Given the description of an element on the screen output the (x, y) to click on. 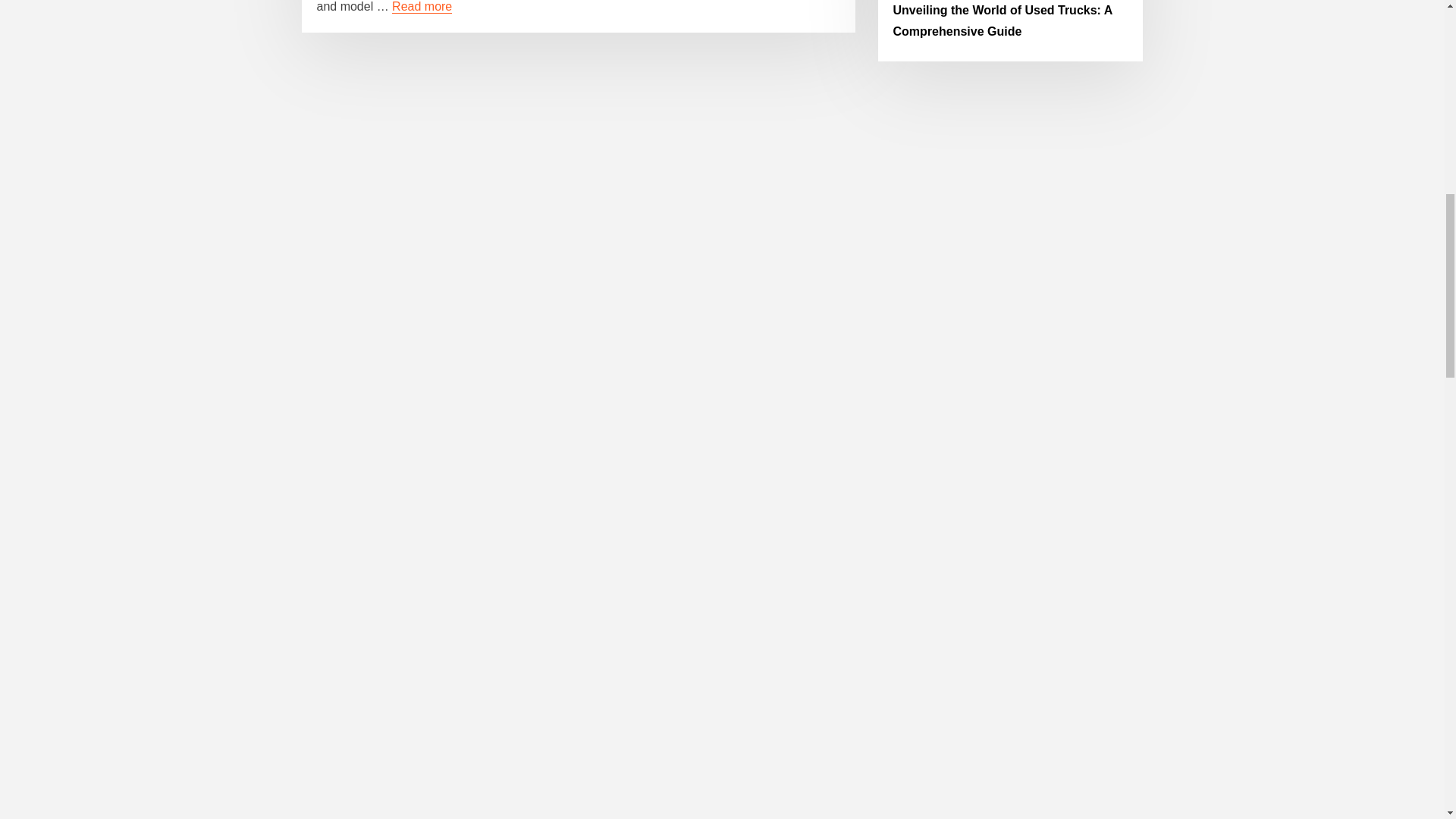
Read more (421, 6)
